Given the description of an element on the screen output the (x, y) to click on. 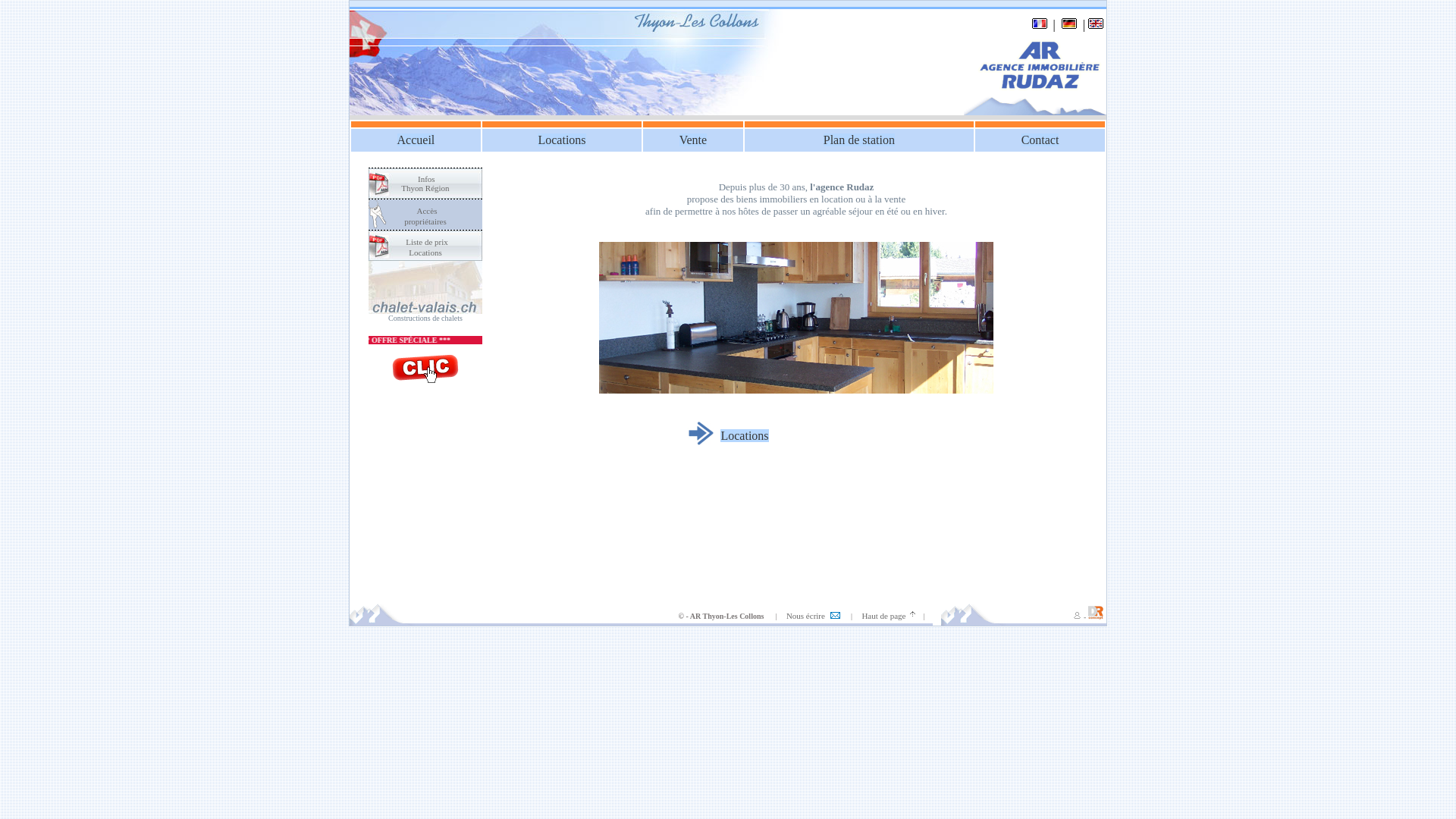
Liste de prix
Locations Element type: text (426, 247)
Plan de station Element type: text (858, 139)
Accueil Element type: text (416, 139)
Haut de page Element type: text (883, 615)
Deutsch Element type: hover (1068, 25)
Vente Element type: text (692, 139)
Locations Element type: text (744, 435)
English Element type: hover (1095, 25)
Locations Element type: text (561, 139)
Contact Element type: text (1040, 139)
